Given the description of an element on the screen output the (x, y) to click on. 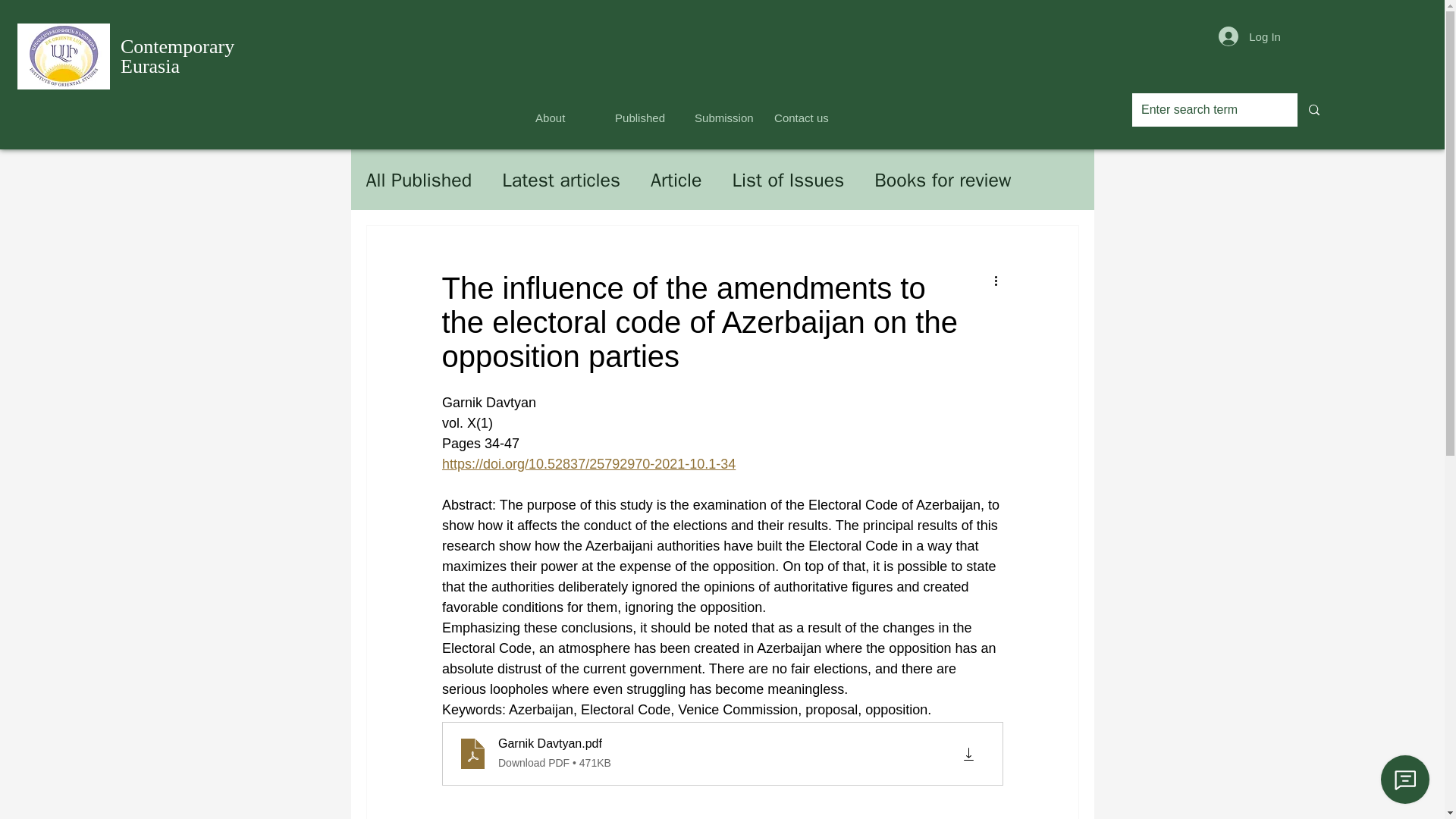
About (177, 56)
All Published (565, 111)
Submission (418, 179)
List of Issues (724, 111)
Books for review (788, 179)
Log In (942, 179)
Article (1249, 36)
Latest articles (675, 179)
Contact us (561, 179)
